Given the description of an element on the screen output the (x, y) to click on. 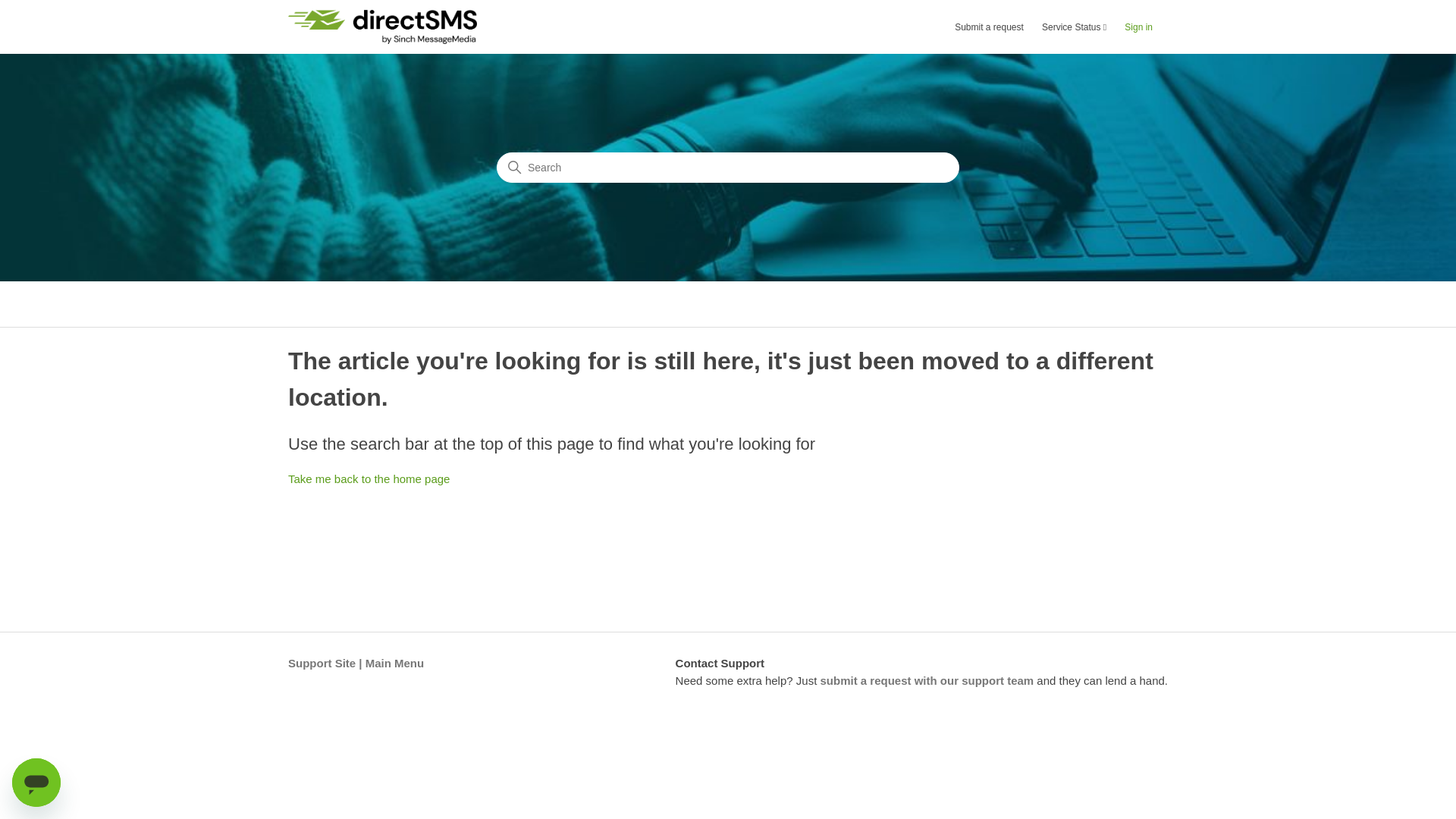
Take me back to the home page Element type: text (368, 478)
Button to launch messaging window Element type: hover (36, 782)
Sign in Element type: text (1145, 27)
Submit a request Element type: text (996, 27)
submit a request with our support team Element type: text (926, 679)
Home Element type: hover (382, 26)
Support Site | Main Menu Element type: text (355, 662)
